Given the description of an element on the screen output the (x, y) to click on. 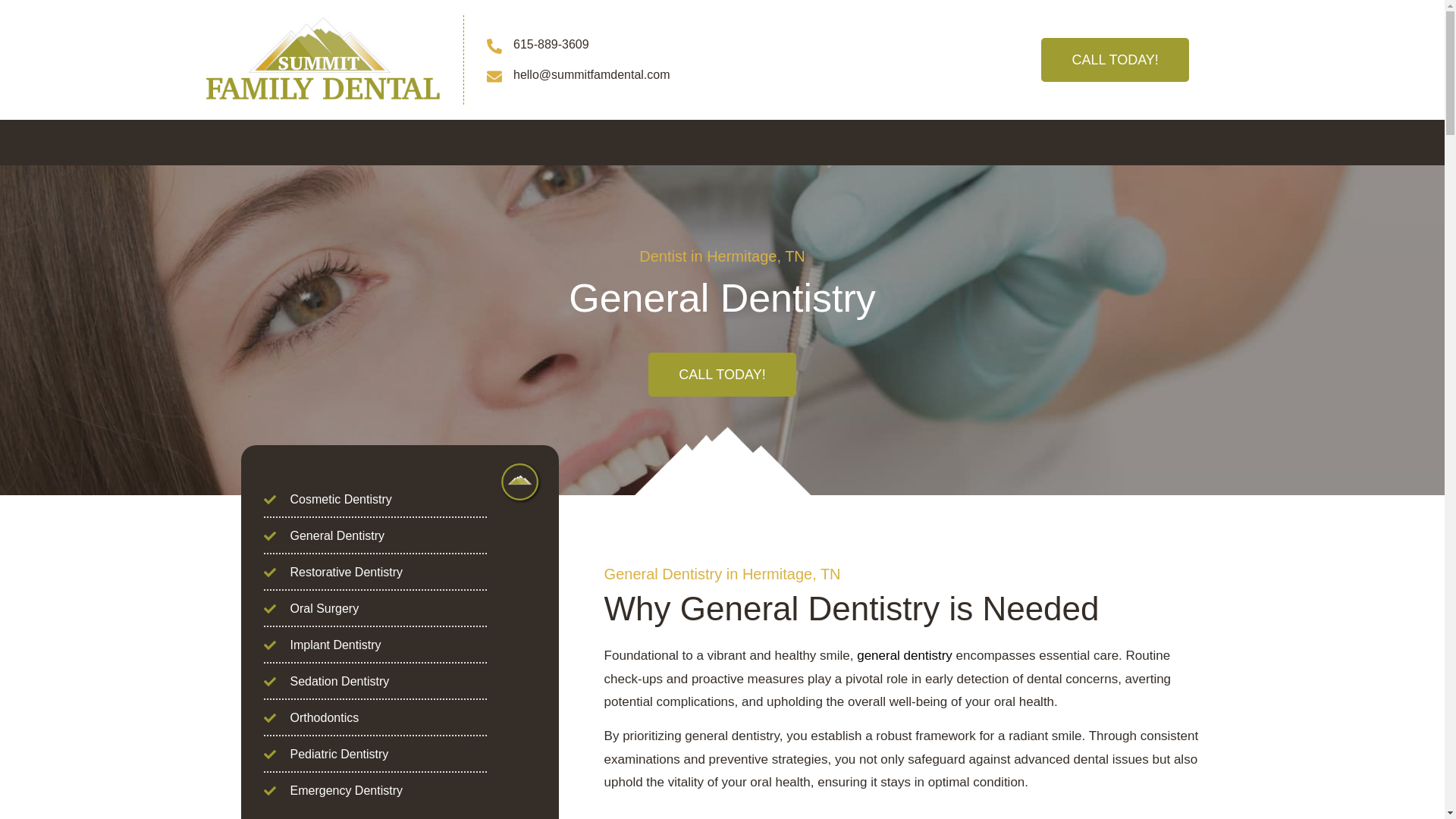
CALL TODAY! (1114, 59)
